Given the description of an element on the screen output the (x, y) to click on. 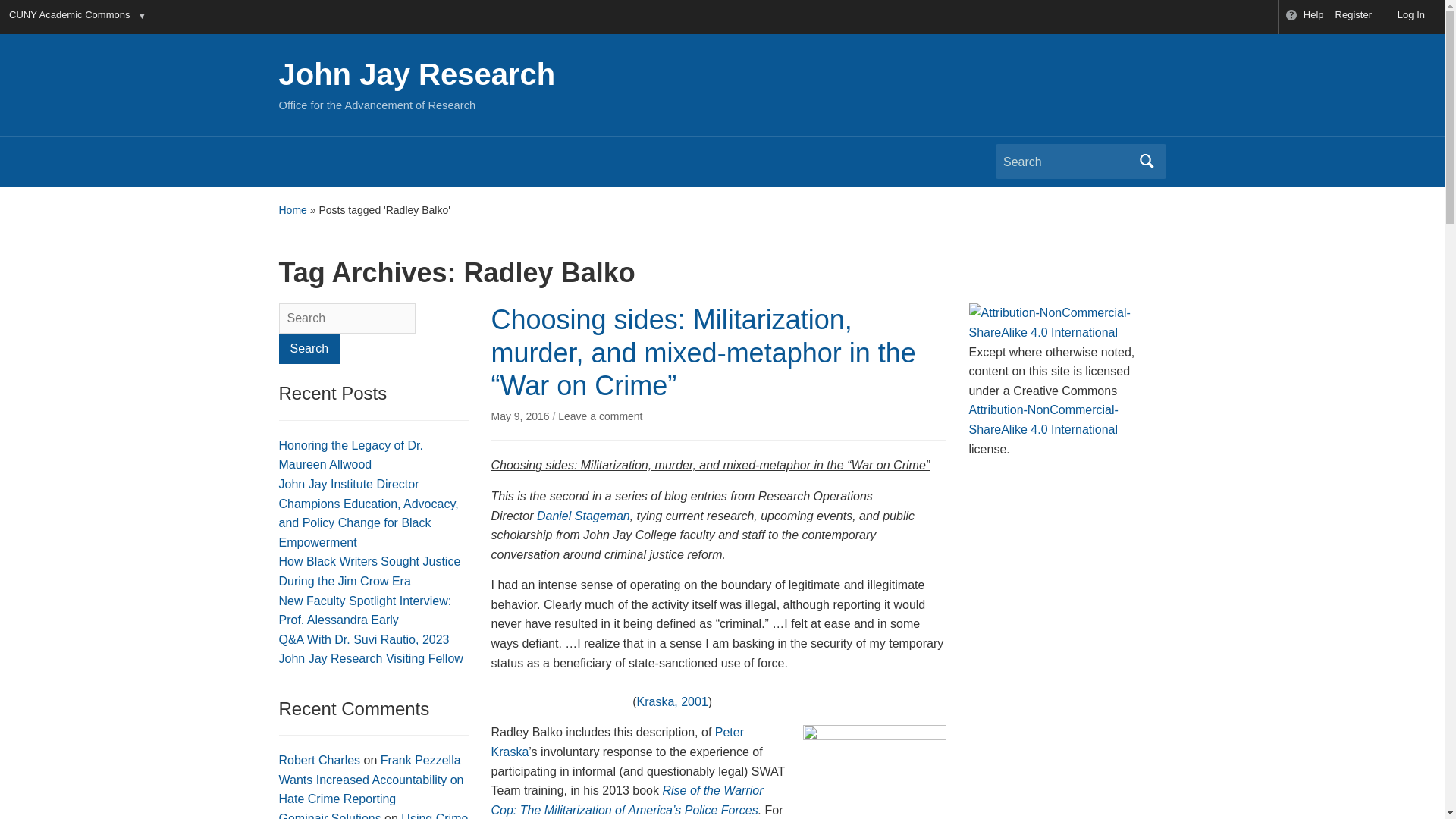
Geminair Solutions (330, 815)
How Black Writers Sought Justice During the Jim Crow Era (370, 571)
CUNY Academic Commons (68, 17)
Using Crime Science to Fight for Wildlife (373, 815)
Honoring the Legacy of Dr. Maureen Allwood (351, 454)
John Jay Research (417, 73)
Help (1304, 17)
Robert Charles (320, 759)
